Given the description of an element on the screen output the (x, y) to click on. 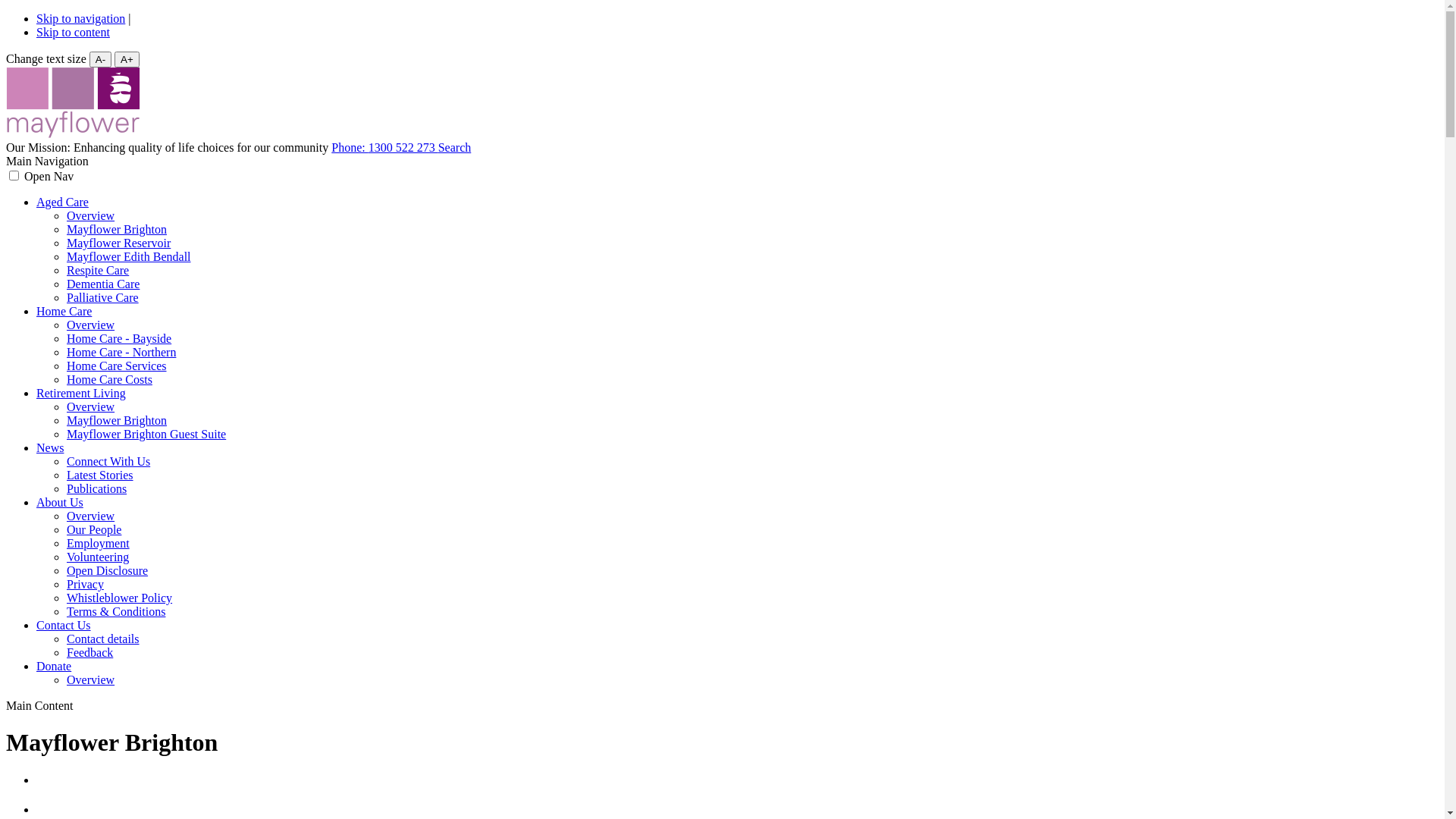
Overview Element type: text (90, 515)
Home Care - Bayside Element type: text (118, 338)
Latest Stories Element type: text (99, 474)
Mayflower Edith Bendall Element type: text (128, 256)
Connect With Us Element type: text (108, 461)
Overview Element type: text (90, 679)
Open Disclosure Element type: text (106, 570)
Mayflower Brighton Element type: text (116, 420)
Main Navigation Element type: text (47, 160)
Home Care Element type: text (63, 310)
Whistleblower Policy Element type: text (119, 597)
Volunteering Element type: text (97, 556)
Donate Element type: text (53, 665)
Skip to content Element type: text (72, 31)
Home Care - Northern Element type: text (120, 351)
Contact Us Element type: text (63, 624)
A+ Element type: text (126, 59)
Retirement Living Element type: text (80, 392)
Privacy Element type: text (84, 583)
Search Element type: text (454, 147)
Home Care Costs Element type: text (109, 379)
Terms & Conditions Element type: text (115, 611)
About Us Element type: text (59, 501)
Skip to navigation Element type: text (80, 18)
News Element type: text (49, 447)
Dementia Care Element type: text (102, 283)
Publications Element type: text (96, 488)
Respite Care Element type: text (97, 269)
Overview Element type: text (90, 406)
A- Element type: text (100, 59)
Contact details Element type: text (102, 638)
Mayflower Reservoir Element type: text (118, 242)
Mayflower Brighton Element type: text (116, 228)
Employment Element type: text (97, 542)
Palliative Care Element type: text (102, 297)
Overview Element type: text (90, 324)
Mayflower Brighton Guest Suite Element type: text (145, 433)
Overview Element type: text (90, 215)
Feedback Element type: text (89, 652)
Home Care Services Element type: text (116, 365)
Phone: 1300 522 273 Element type: text (384, 147)
Aged Care Element type: text (62, 201)
Our People Element type: text (93, 529)
Open Nav Element type: text (48, 175)
Main Content Element type: text (39, 705)
